Given the description of an element on the screen output the (x, y) to click on. 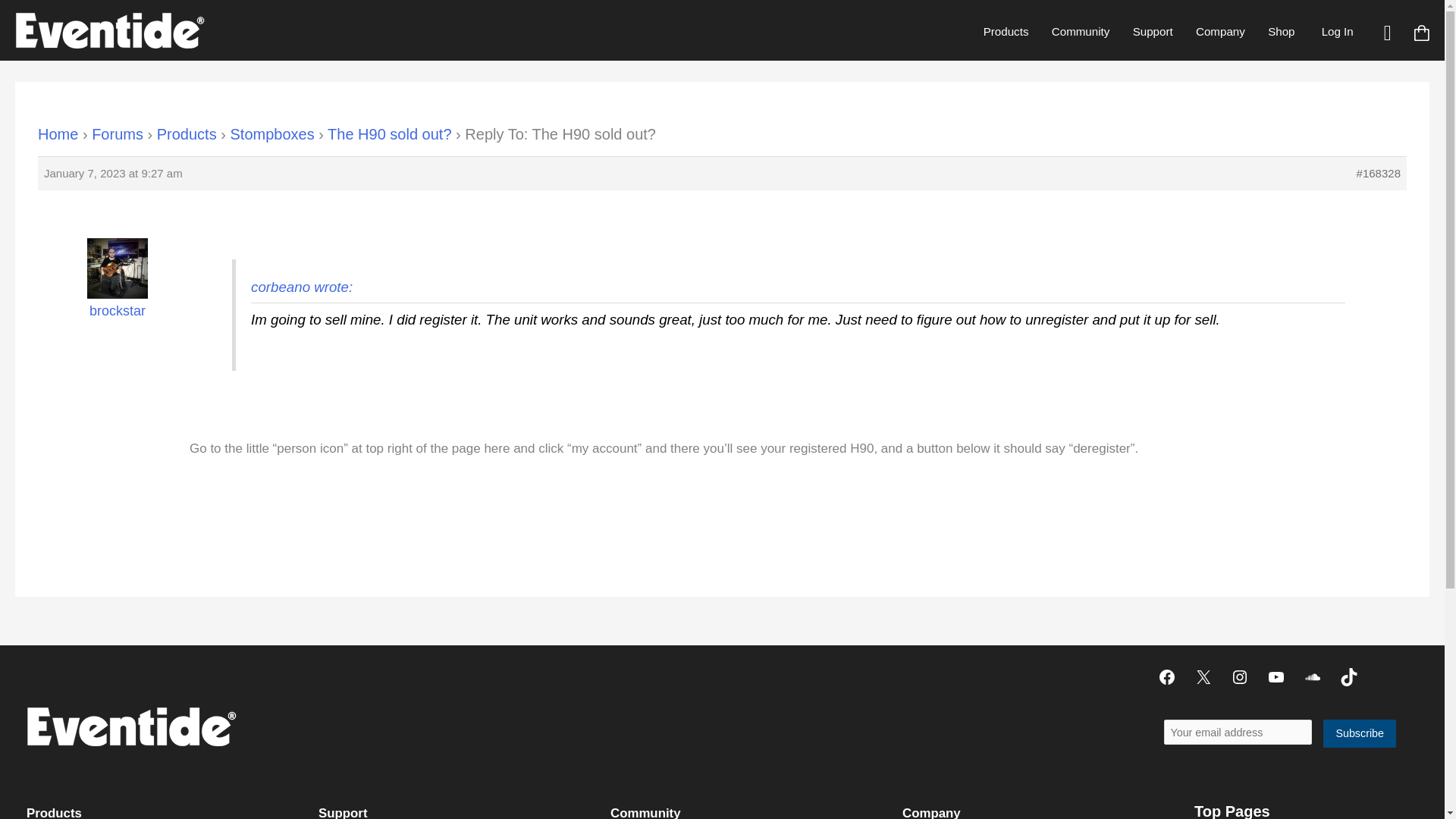
Shop (1281, 31)
View brockstar's profile (117, 289)
eventide-logo-white (130, 726)
Support (1152, 31)
Products (1006, 31)
Company (1220, 31)
Subscribe (1359, 733)
Log In (1337, 31)
Community (1081, 31)
